Given the description of an element on the screen output the (x, y) to click on. 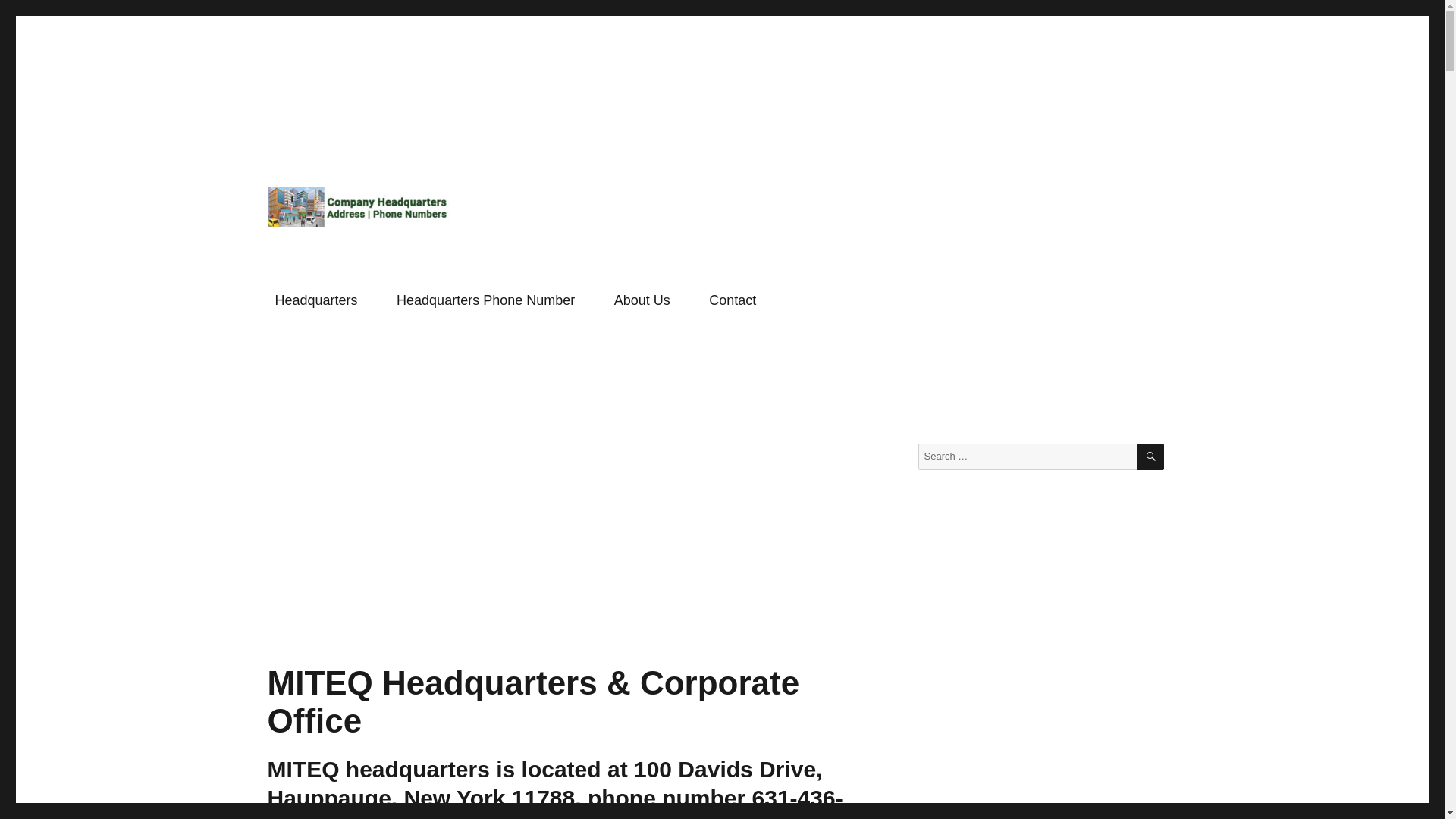
Headquarters (316, 300)
Contact (732, 300)
SEARCH (1150, 456)
Headquarters Phone Number (485, 300)
About Us (642, 300)
